Given the description of an element on the screen output the (x, y) to click on. 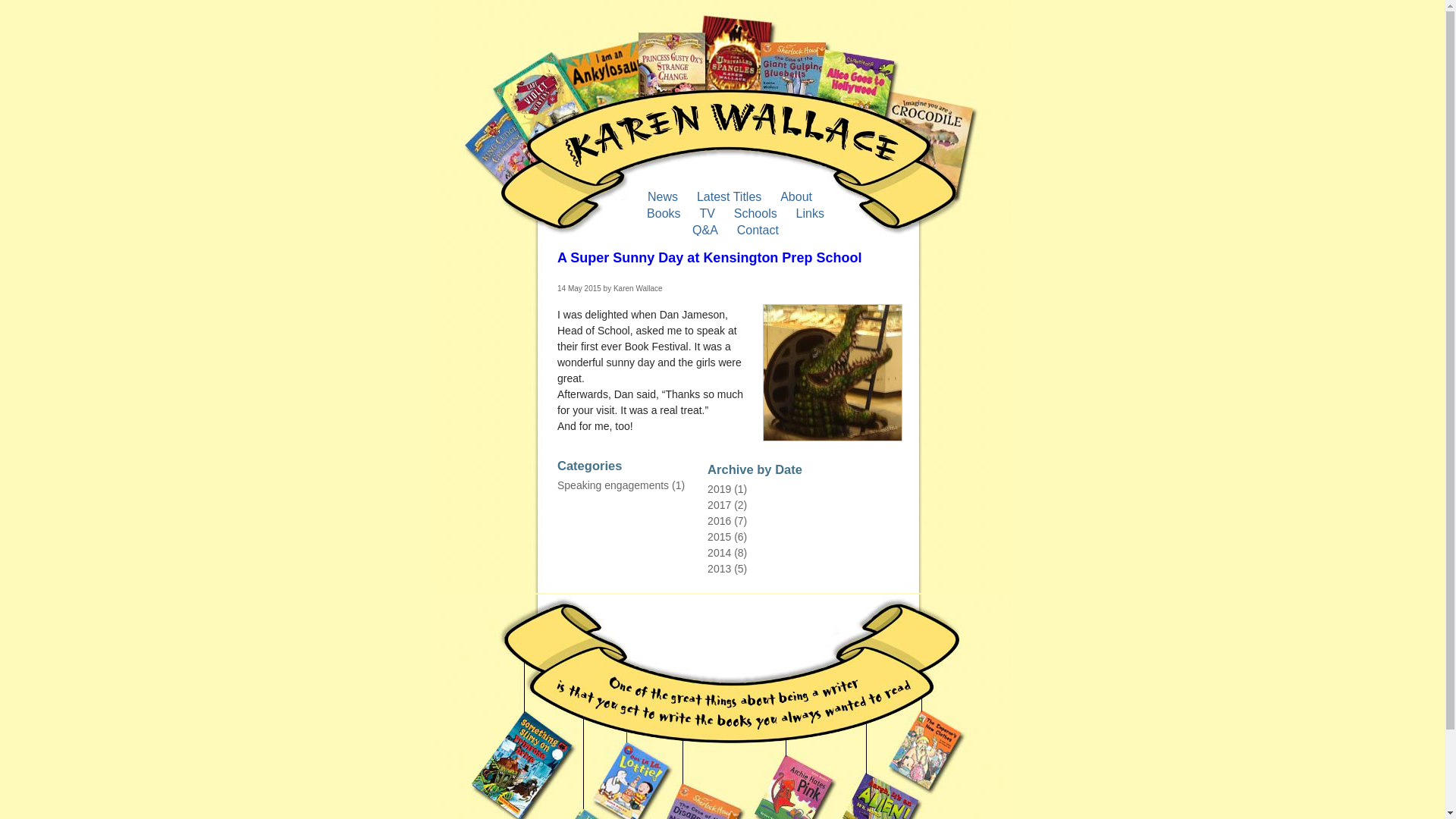
Latest Titles (728, 196)
A Super Sunny Day at Kensington Prep School (709, 257)
About (795, 196)
News (662, 196)
Contact (757, 230)
Schools (755, 212)
TV (706, 212)
Books (663, 212)
Links (810, 212)
